Given the description of an element on the screen output the (x, y) to click on. 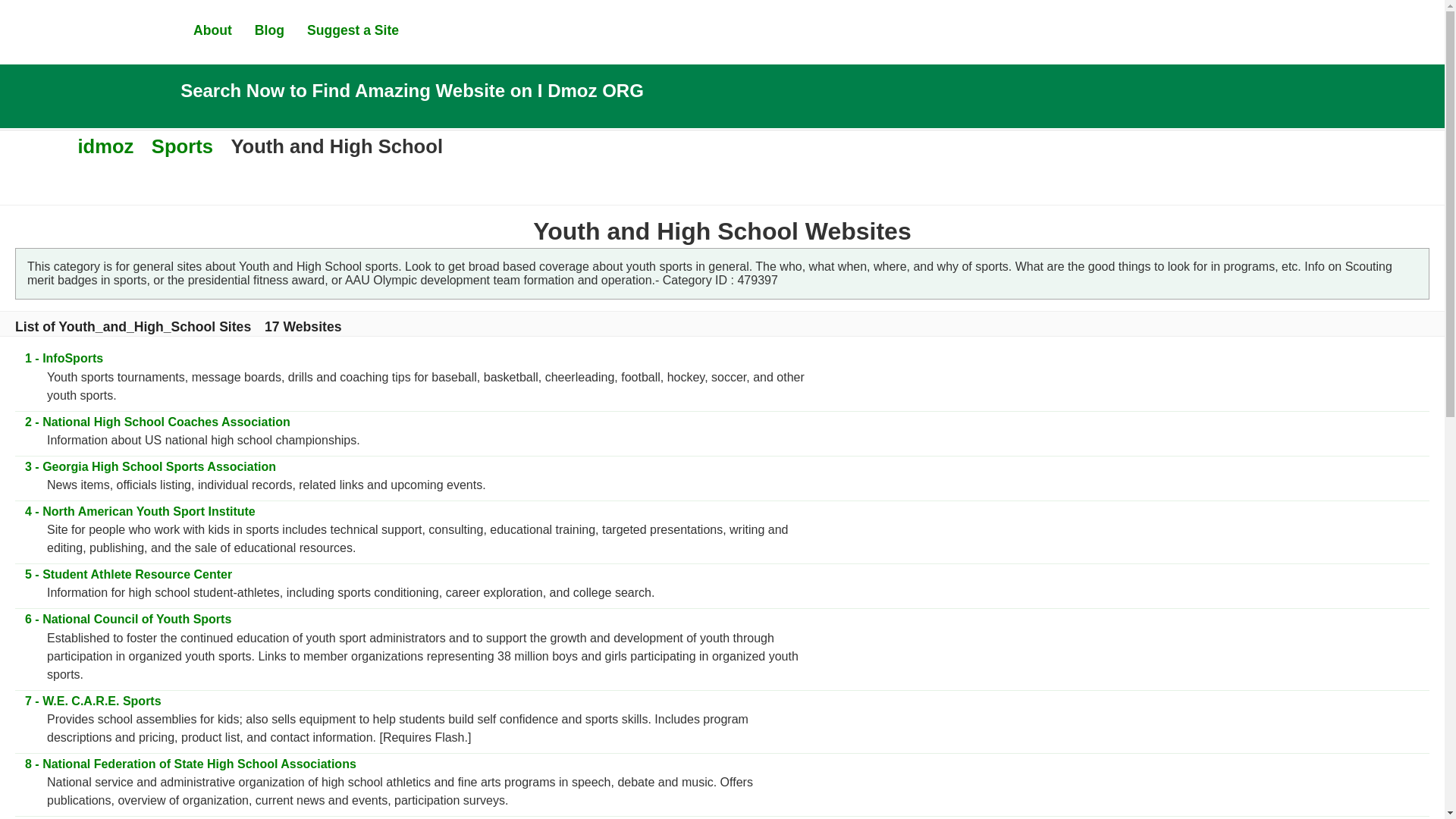
3 - Georgia High School Sports Association (149, 466)
2 - National High School Coaches Association (156, 421)
Sports (181, 146)
About (212, 30)
Suggest a Site (352, 30)
idmoz (105, 146)
7 - W.E. C.A.R.E. Sports (92, 700)
8 - National Federation of State High School Associations (189, 763)
6 - National Council of Youth Sports (127, 618)
Blog (269, 30)
